Given the description of an element on the screen output the (x, y) to click on. 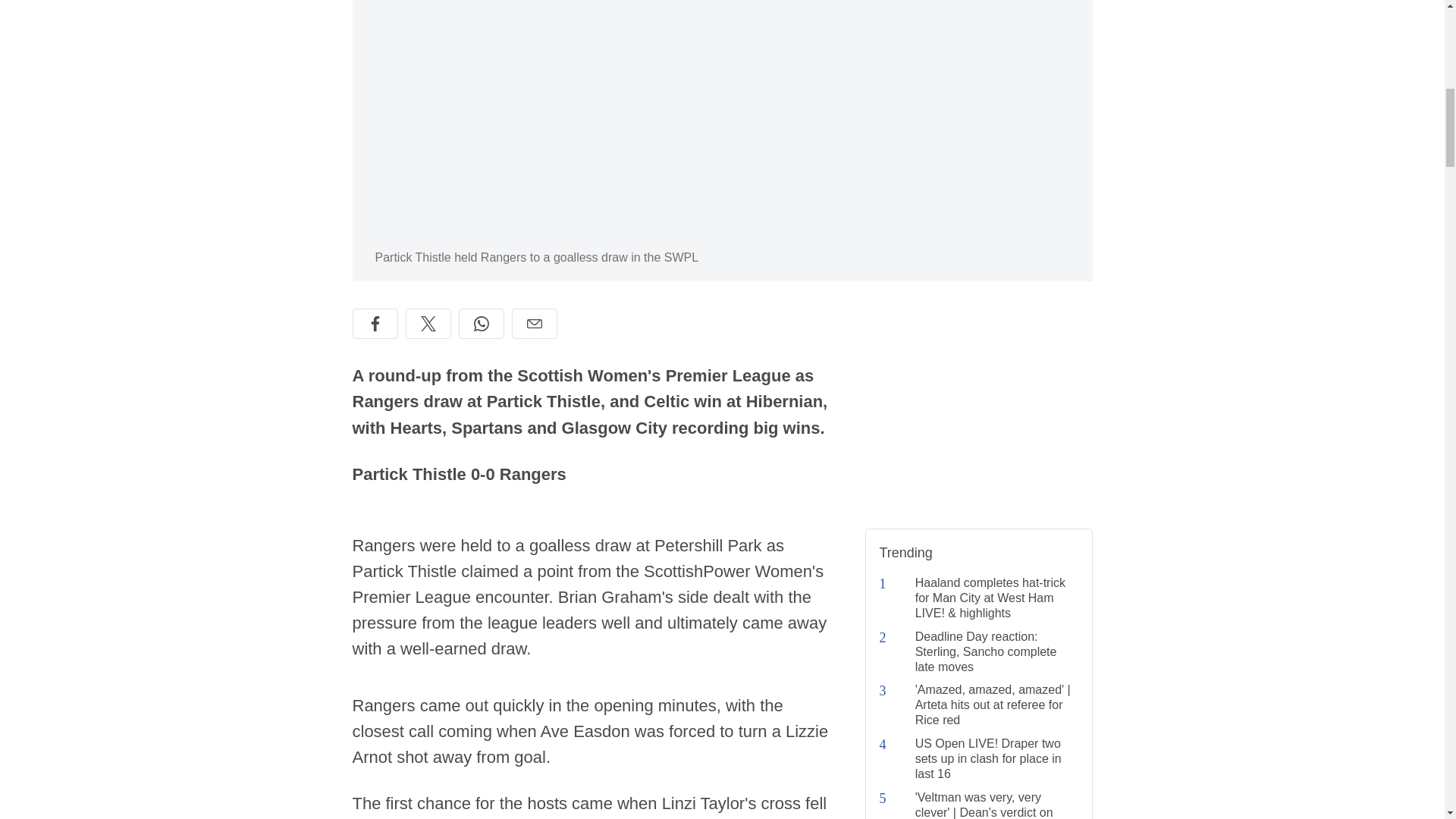
Share on Facebook (374, 323)
Share by email (533, 323)
Share on WhatsApp (480, 323)
Share on X (426, 323)
